Given the description of an element on the screen output the (x, y) to click on. 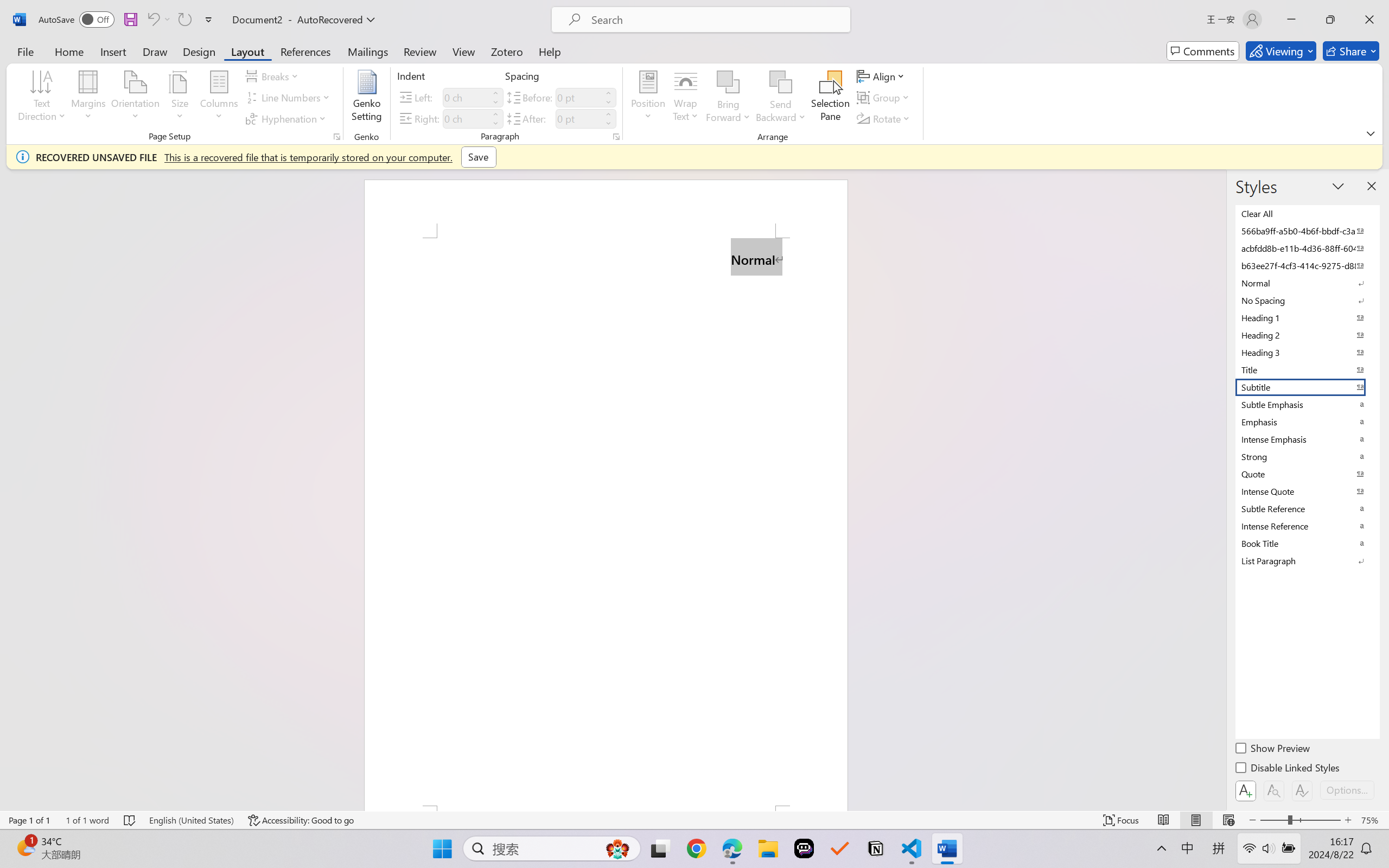
Align (881, 75)
Disable Linked Styles (1287, 769)
No Spacing (1306, 300)
Show Preview (1273, 749)
Bring Forward (728, 81)
Send Backward (781, 81)
Orientation (135, 97)
Columns (219, 97)
Line Numbers (289, 97)
Text Direction (42, 97)
